Given the description of an element on the screen output the (x, y) to click on. 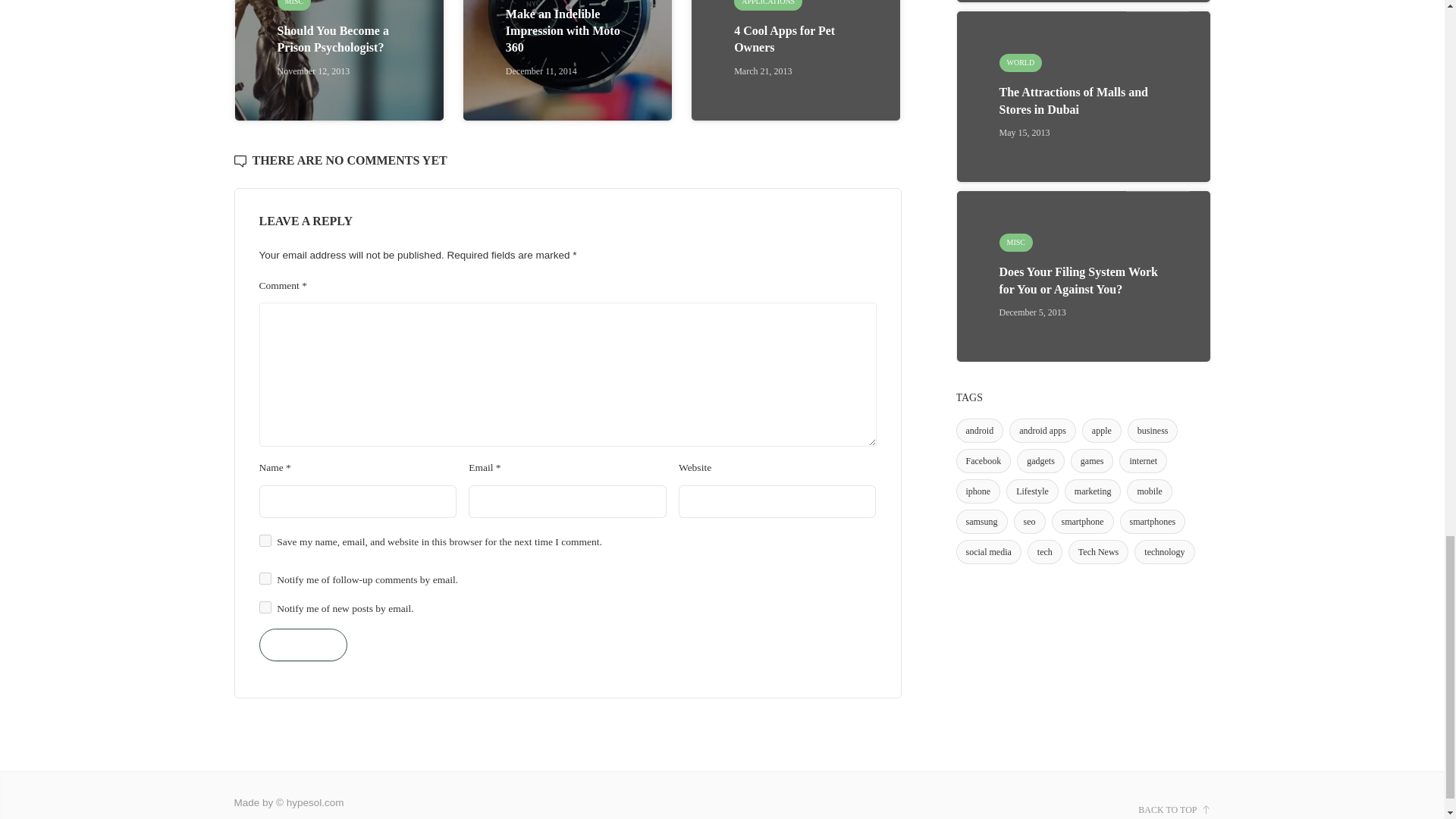
November 12, 2013 (314, 71)
View all posts in Applications (767, 5)
Post Comment (303, 644)
MISC (294, 5)
subscribe (264, 578)
March 21, 2013 (762, 71)
yes (264, 540)
December 11, 2014 (540, 71)
View all posts in MISC (294, 5)
BACK TO TOP (1173, 809)
subscribe (264, 607)
Post Comment (303, 644)
APPLICATIONS (767, 5)
